Given the description of an element on the screen output the (x, y) to click on. 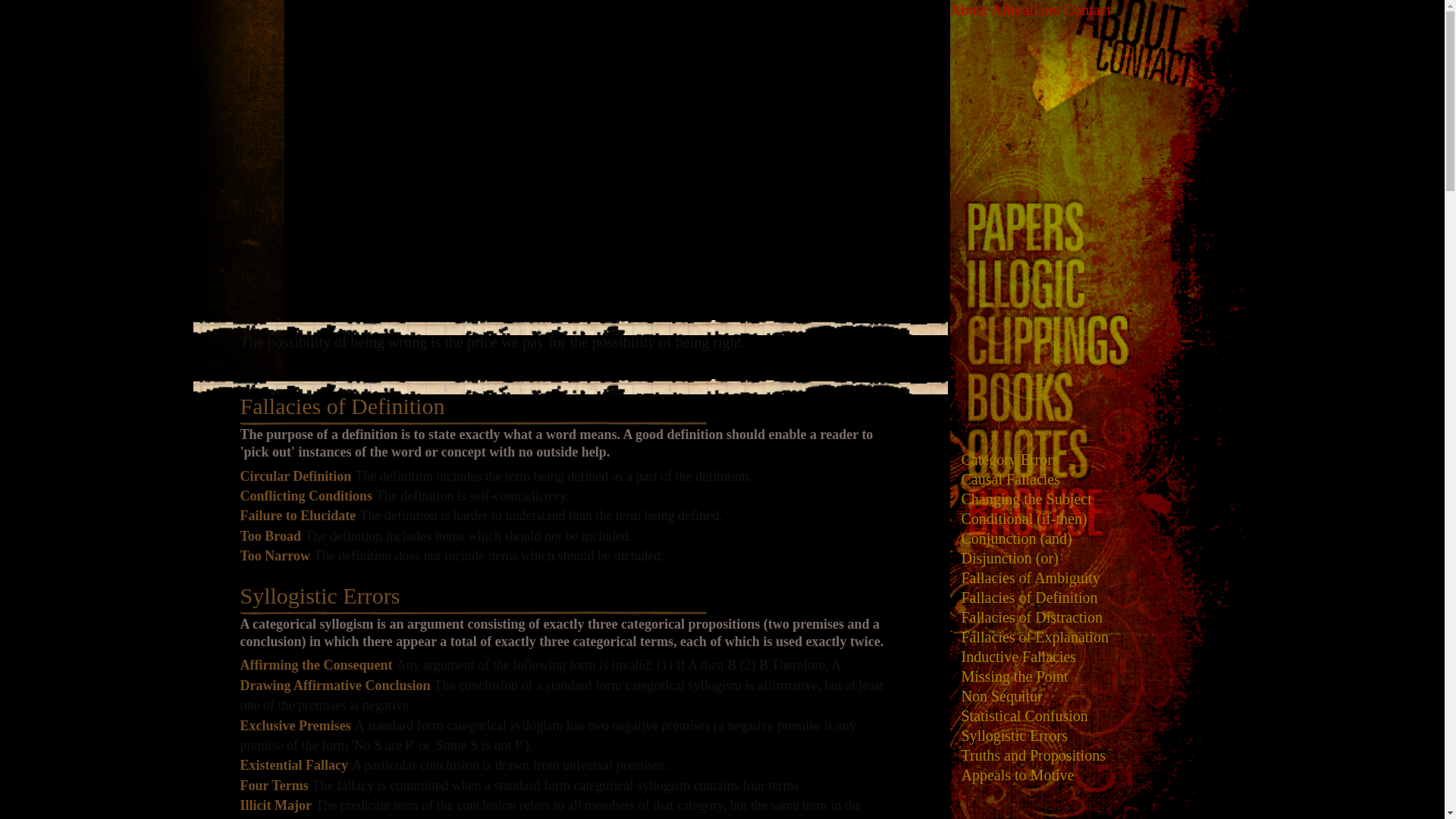
Fallacies of Definition (342, 405)
Conflicting Conditions (306, 495)
Affirming the Consequent (315, 664)
Syllogistic Errors (319, 595)
Illicit Major (275, 805)
Too Broad (270, 535)
Existential Fallacy (293, 765)
Exclusive Premises (295, 725)
Failure to Elucidate (297, 515)
Circular Definition (295, 476)
